Given the description of an element on the screen output the (x, y) to click on. 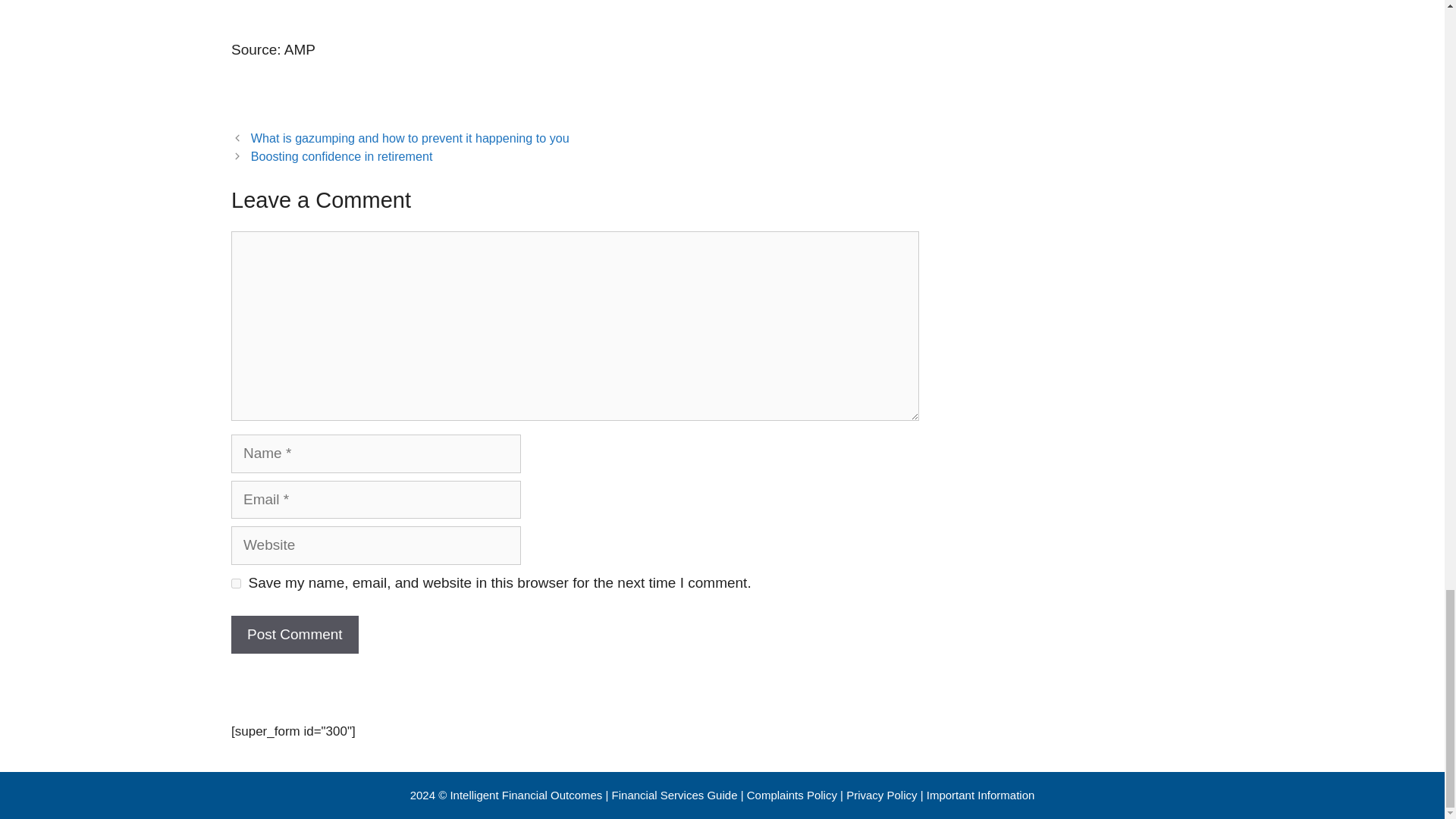
Post Comment (294, 634)
yes (236, 583)
What is gazumping and how to prevent it happening to you (409, 137)
Boosting confidence in retirement (341, 155)
Post Comment (294, 634)
